Given the description of an element on the screen output the (x, y) to click on. 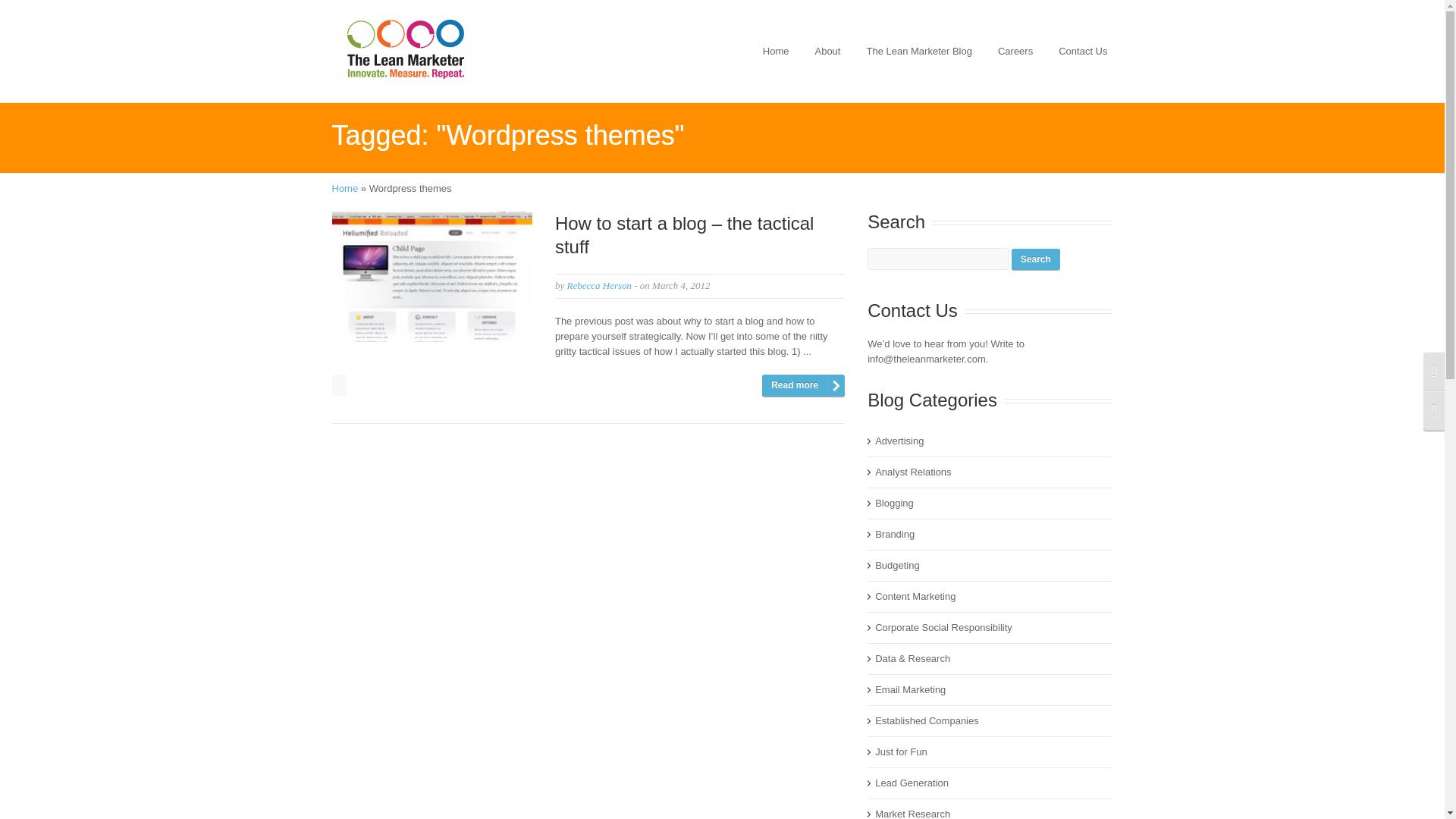
Established Companies (926, 720)
Market Research (912, 813)
Search (1035, 259)
Contact Us (1082, 51)
Email Marketing (909, 689)
Posts by Rebecca Herson (598, 285)
Lead Generation (912, 782)
Careers (1015, 51)
Analyst Relations (912, 471)
Just for Fun (901, 751)
Content Marketing (915, 595)
About (826, 51)
Read more (802, 385)
Rebecca Herson (598, 285)
Home (775, 51)
